Given the description of an element on the screen output the (x, y) to click on. 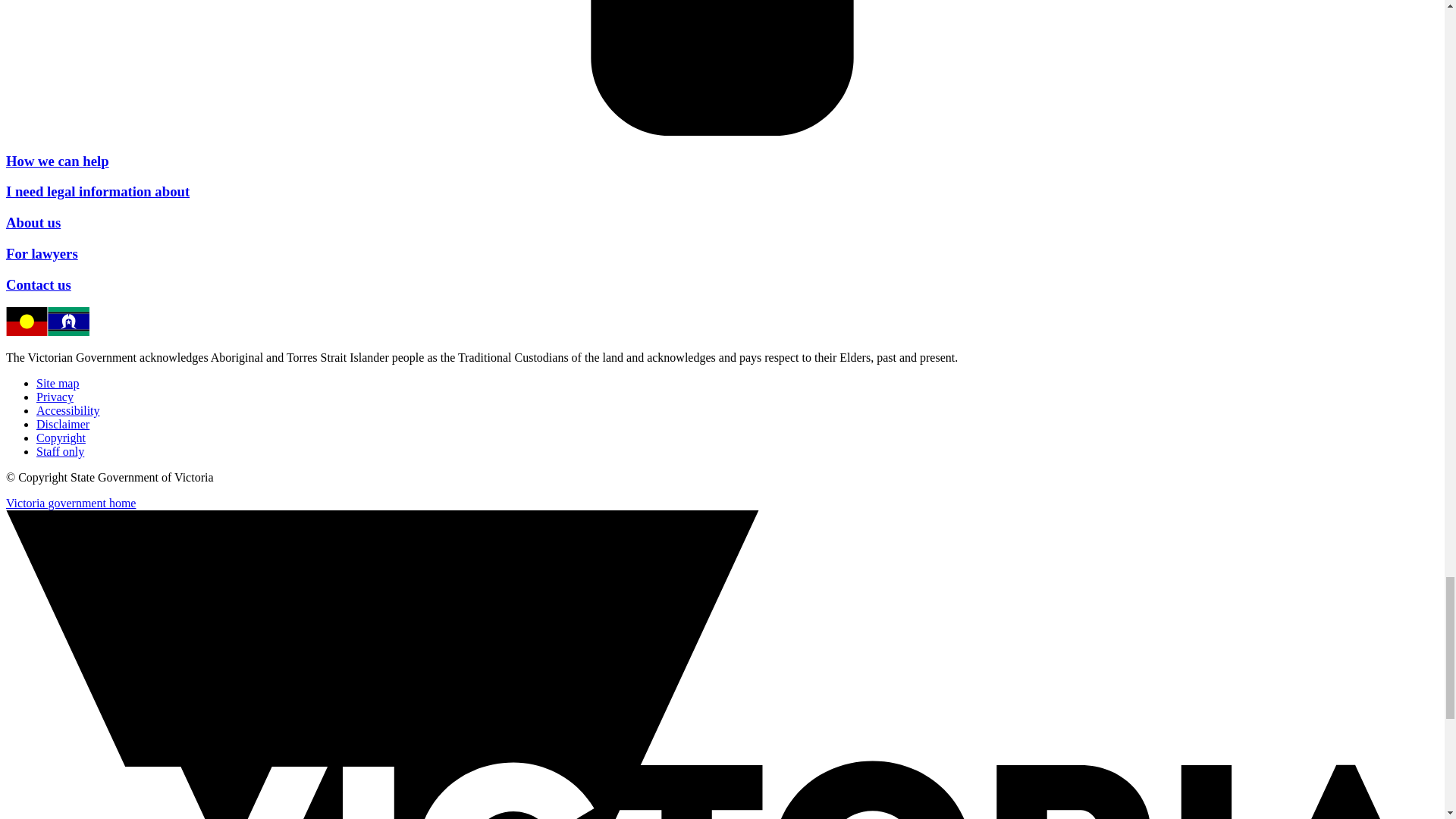
How we can help (57, 160)
Copyright (60, 437)
Accessibility (68, 410)
For lawyers (41, 253)
About us (33, 222)
Disclaimer (62, 423)
Contact us (38, 284)
Site map (57, 382)
Privacy (55, 396)
I need legal information about (97, 191)
